Given the description of an element on the screen output the (x, y) to click on. 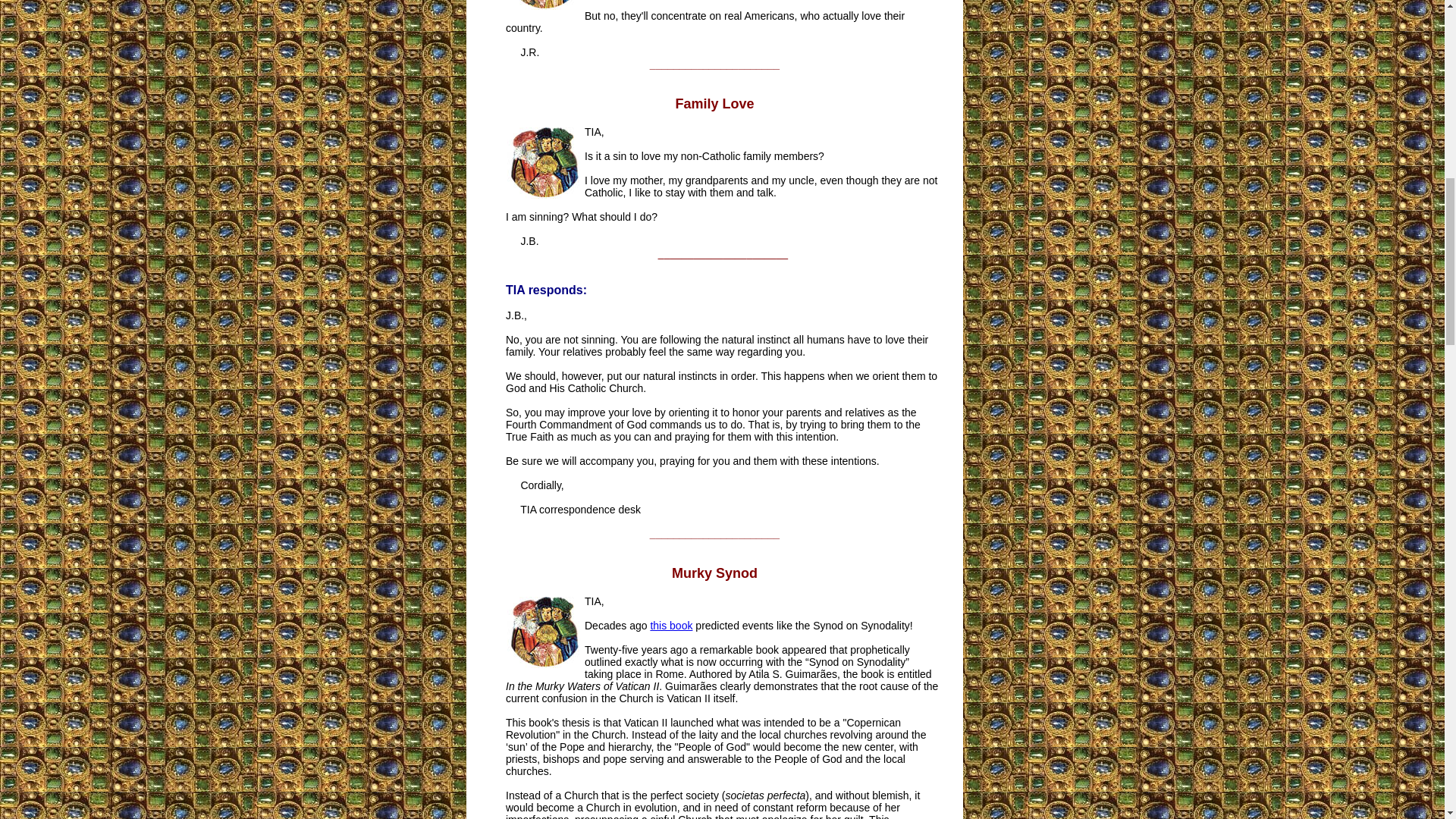
this book (671, 625)
